Given the description of an element on the screen output the (x, y) to click on. 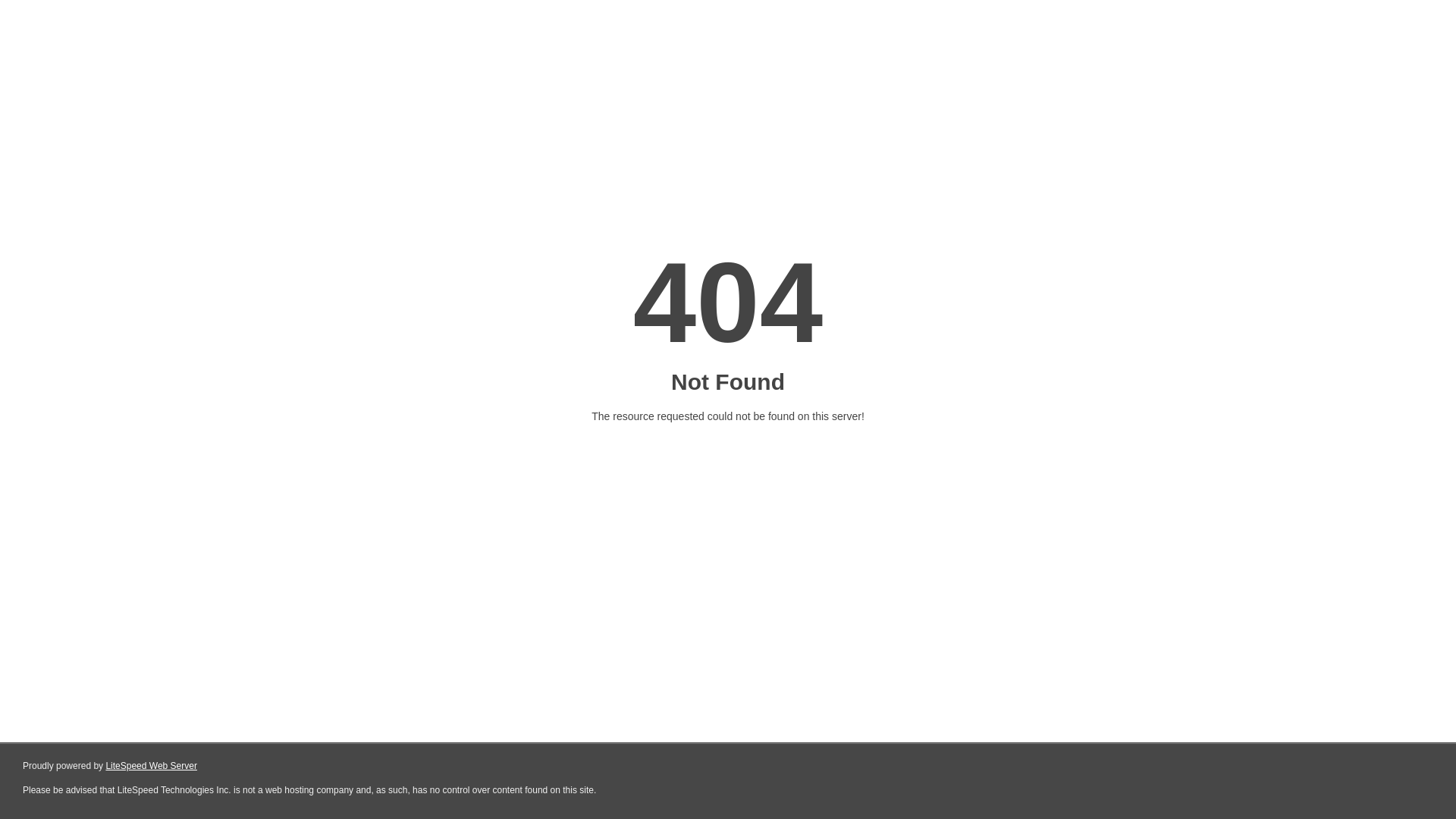
LiteSpeed Web Server (150, 765)
